Given the description of an element on the screen output the (x, y) to click on. 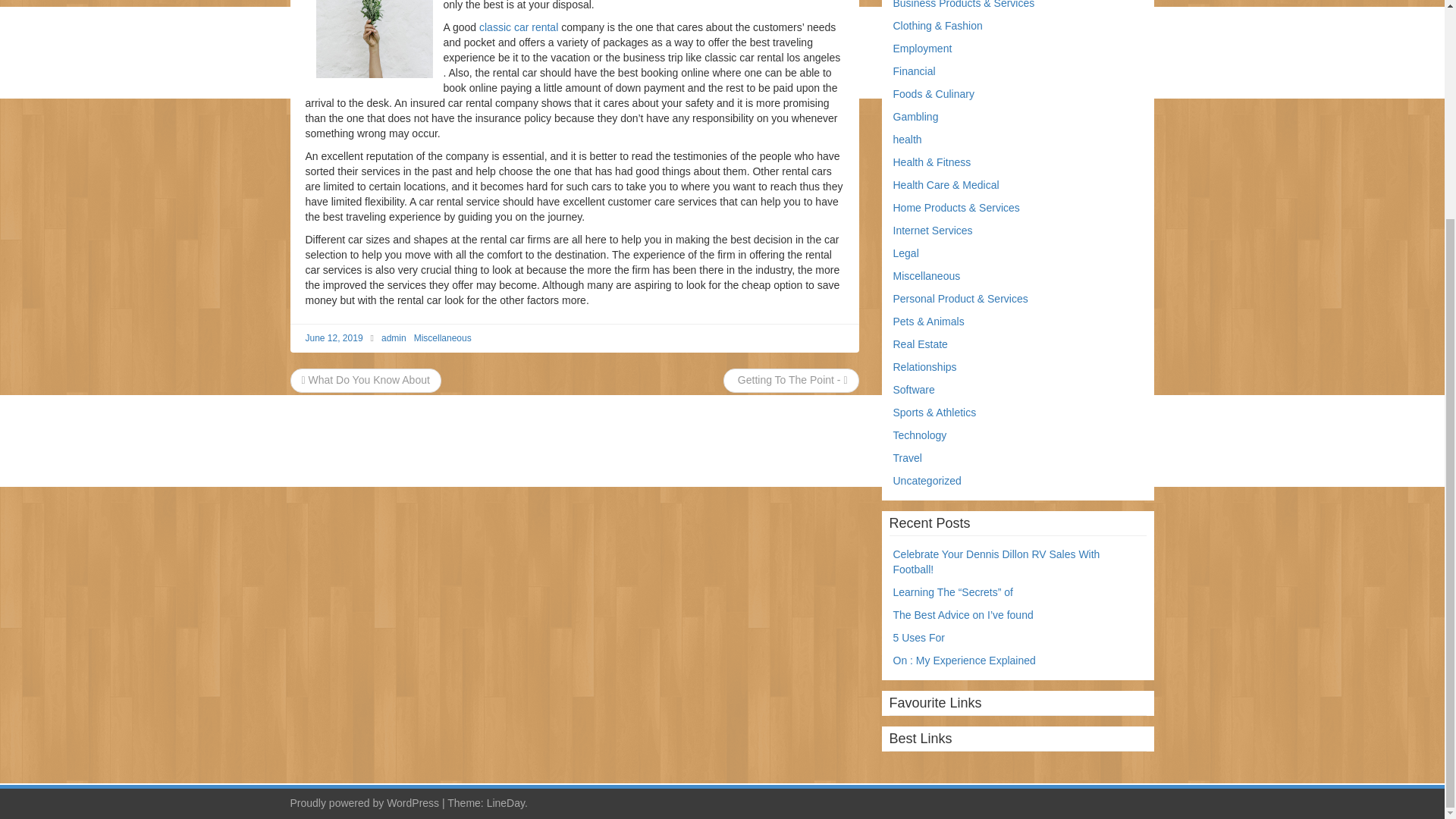
Relationships (924, 367)
 Getting To The Point -  (791, 379)
Financial (914, 70)
Real Estate (920, 344)
Employment (922, 48)
Uncategorized (926, 480)
 What Do You Know About (365, 379)
admin (393, 337)
Gambling (916, 116)
June 12, 2019 (333, 337)
Miscellaneous (926, 275)
Celebrate Your Dennis Dillon RV Sales With Football! (996, 561)
health (907, 139)
Miscellaneous (442, 337)
Software (913, 389)
